Given the description of an element on the screen output the (x, y) to click on. 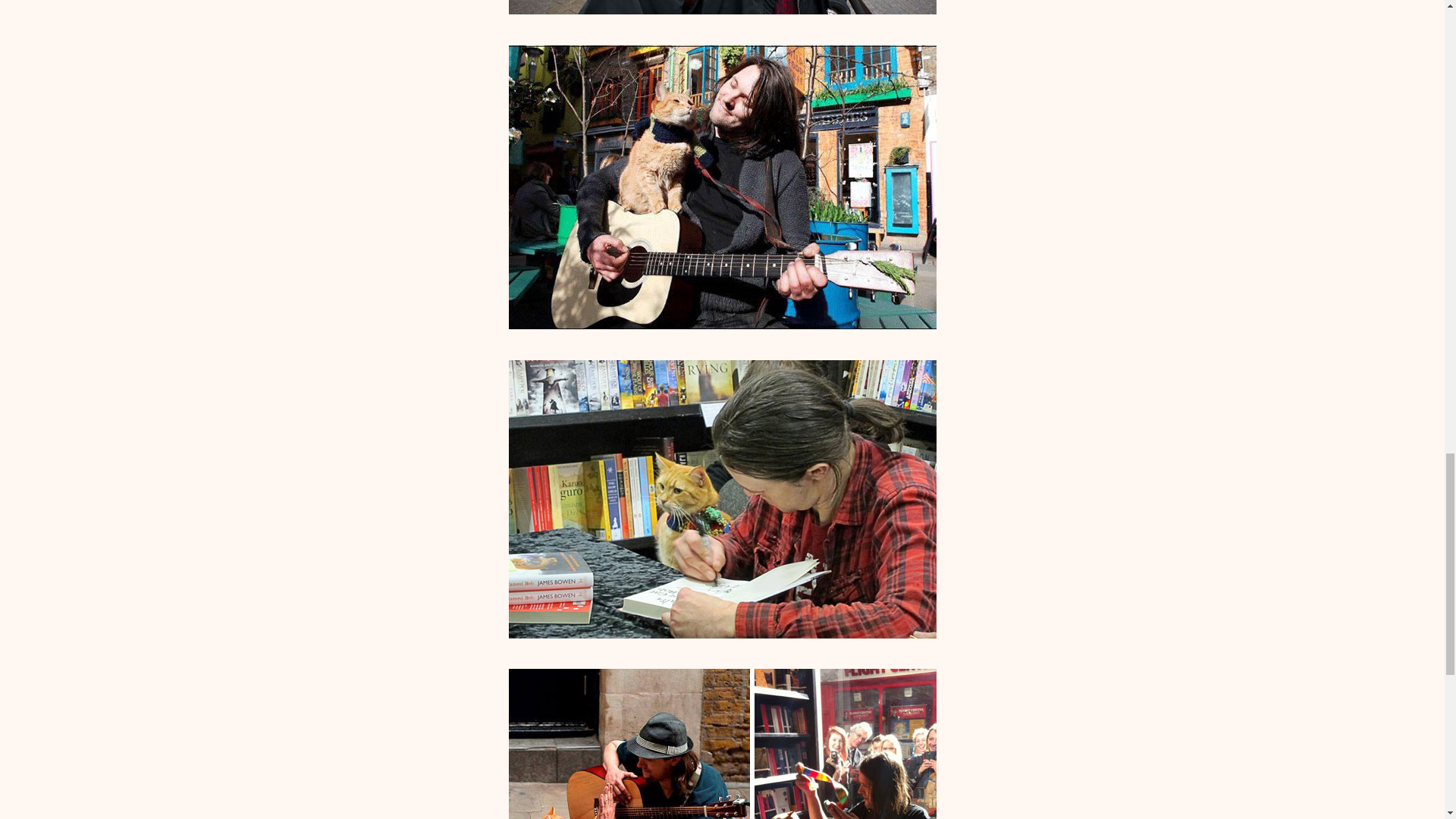
Bob5 (722, 499)
Bob3 (722, 7)
Bob6 (722, 744)
Bob4 (722, 187)
